Given the description of an element on the screen output the (x, y) to click on. 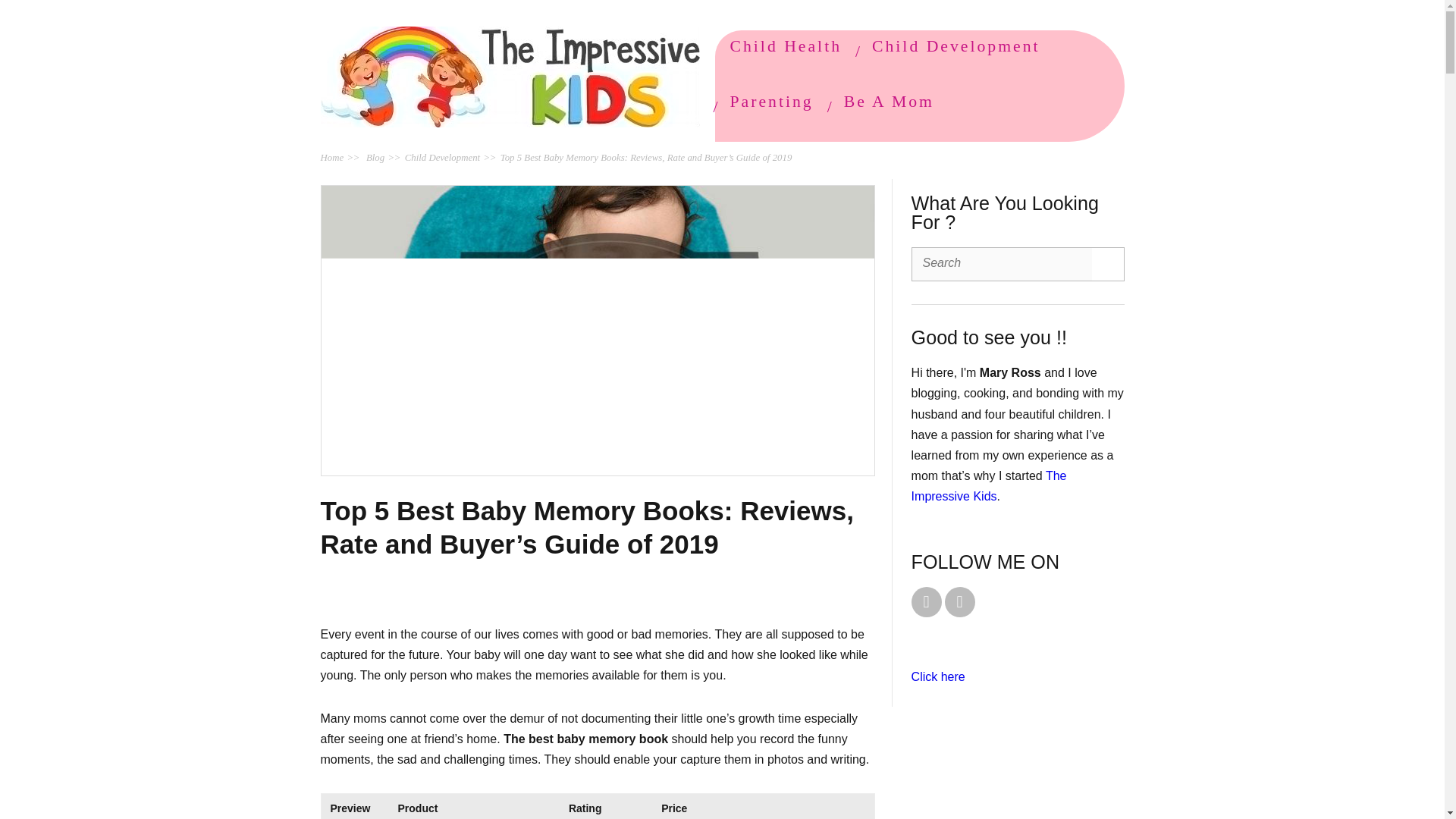
Child Health (785, 46)
Be A Mom (889, 101)
Parenting (770, 101)
Child Development (442, 157)
Child Development (956, 46)
